Given the description of an element on the screen output the (x, y) to click on. 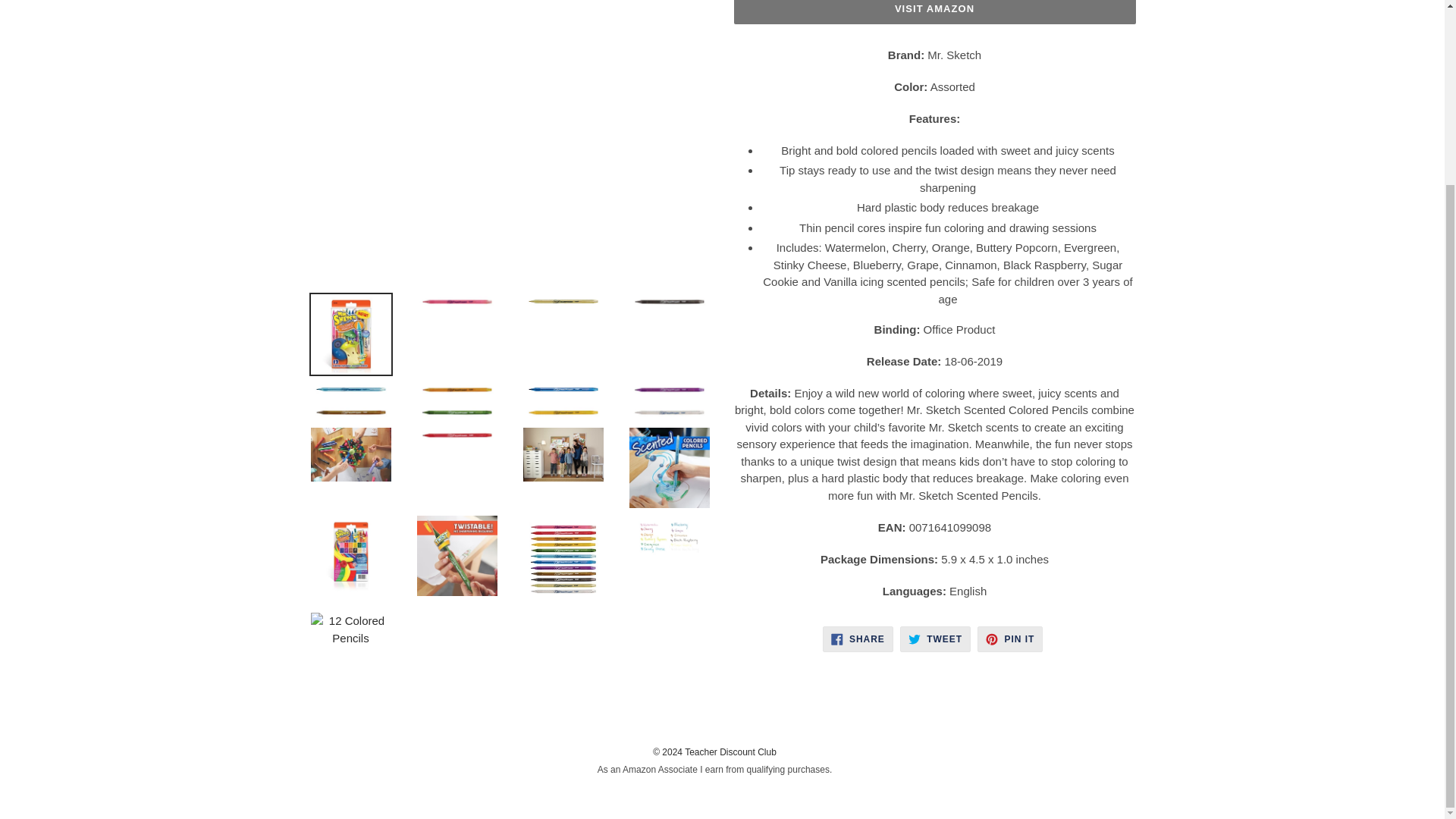
Share on Facebook (857, 638)
Tweet on Twitter (935, 638)
Pin on Pinterest (1009, 638)
VISIT AMAZON (1009, 638)
Teacher Discount Club (934, 12)
